Given the description of an element on the screen output the (x, y) to click on. 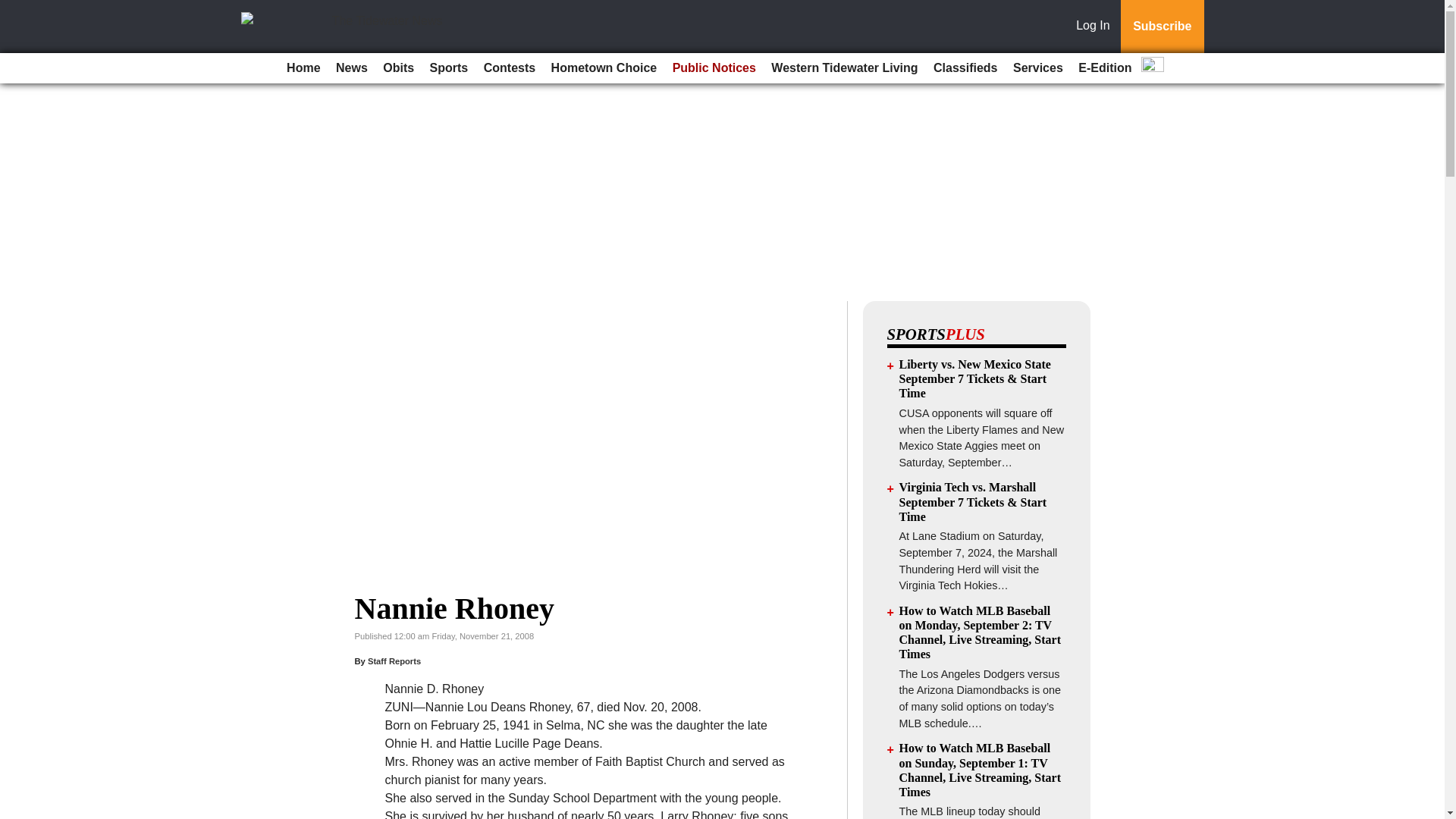
Staff Reports (394, 660)
Go (13, 9)
Hometown Choice (603, 68)
Classifieds (965, 68)
Services (1037, 68)
Sports (448, 68)
Home (303, 68)
Public Notices (713, 68)
Contests (509, 68)
Obits (398, 68)
